Given the description of an element on the screen output the (x, y) to click on. 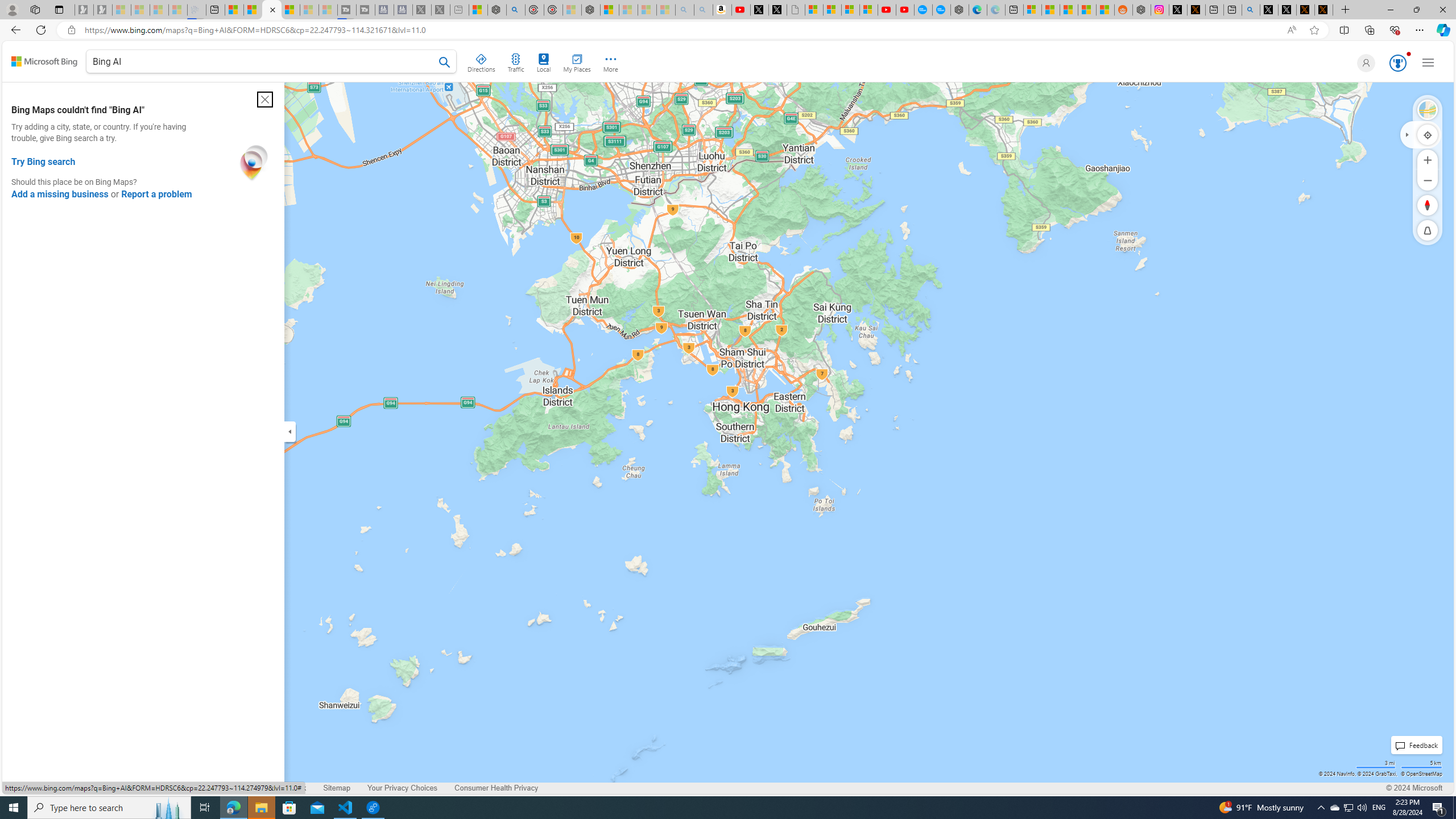
Untitled (795, 9)
amazon - Search - Sleeping (684, 9)
Animation (1408, 53)
Your Privacy Choices (402, 787)
Advertise (146, 787)
Privacy and Cookies (44, 787)
Nordace - Nordace Siena Is Not An Ordinary Backpack (590, 9)
Nordace - Nordace has arrived Hong Kong (960, 9)
Traffic (514, 60)
